Given the description of an element on the screen output the (x, y) to click on. 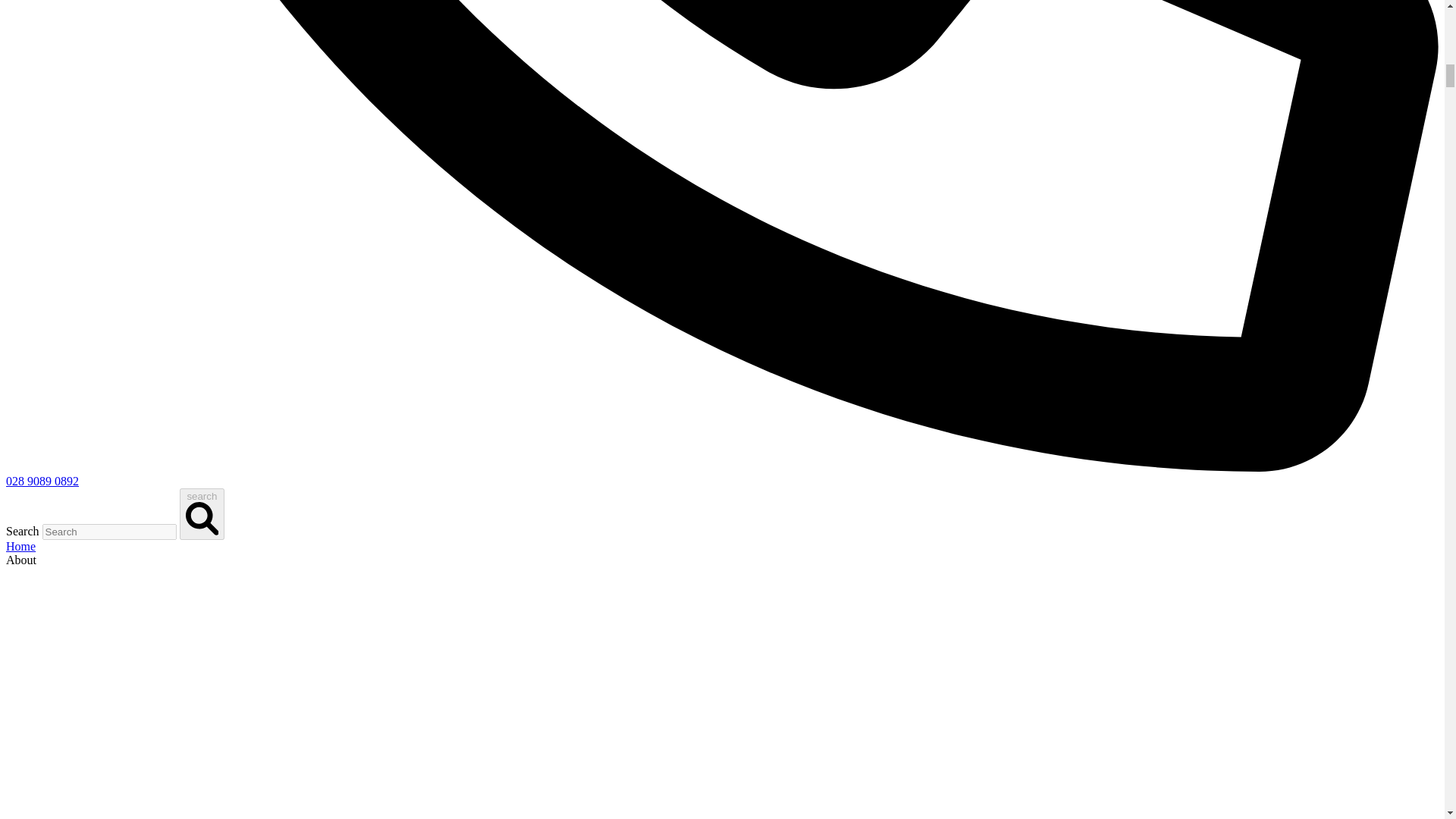
Home (19, 545)
